Given the description of an element on the screen output the (x, y) to click on. 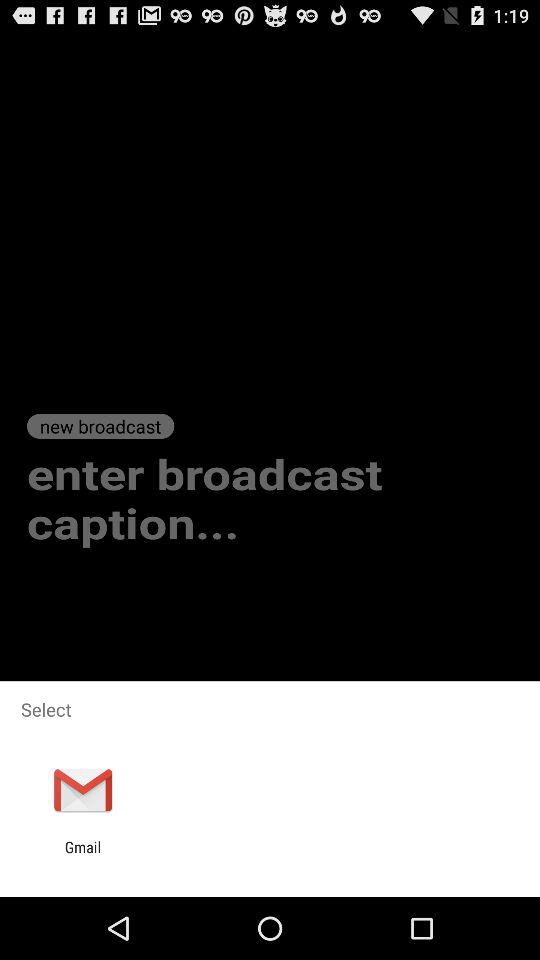
select app above the gmail (82, 789)
